Given the description of an element on the screen output the (x, y) to click on. 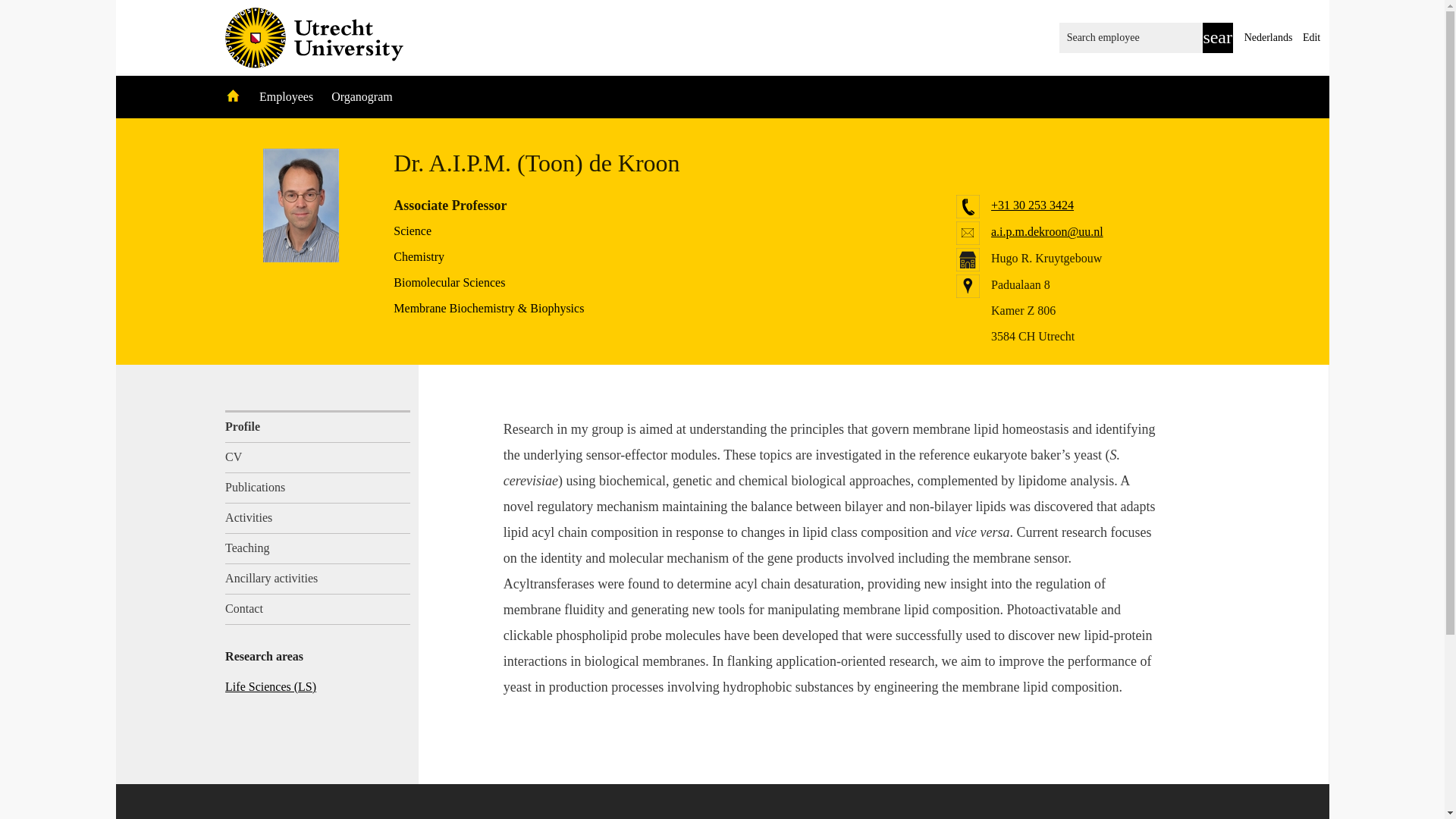
Chemistry (418, 256)
Edit (1311, 37)
Nederlands (1268, 37)
Activities (317, 518)
Ancillary activities (317, 579)
Publications (317, 488)
Biomolecular Sciences (449, 282)
Teaching (317, 548)
Contact (317, 609)
Profile (317, 426)
Employees (287, 96)
Science (411, 230)
CV (317, 458)
Organogram (362, 96)
